Given the description of an element on the screen output the (x, y) to click on. 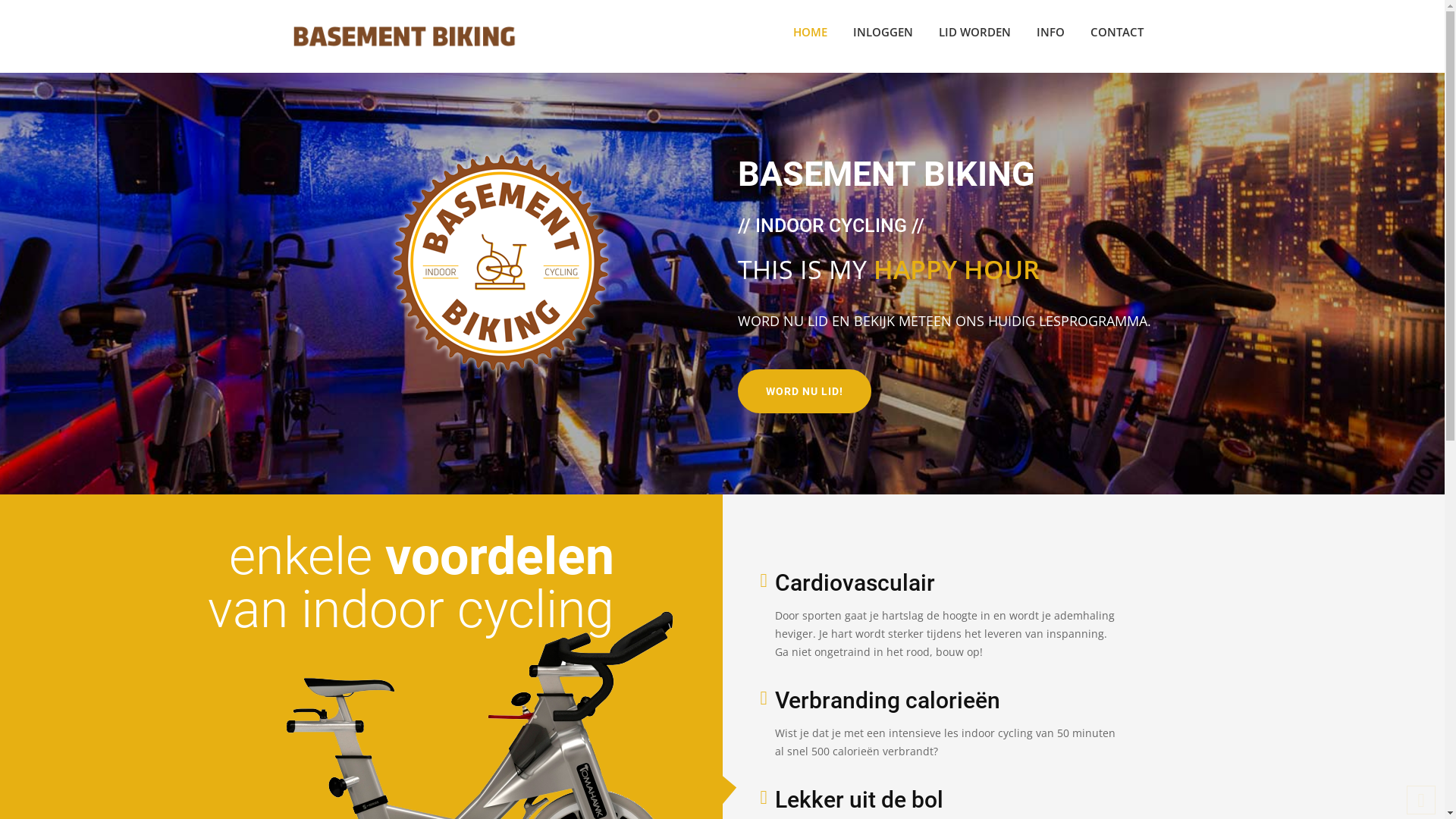
Lekker uit de bol Element type: text (859, 799)
CONTACT Element type: text (1116, 31)
HOME Element type: text (809, 31)
Basement Biking Genk - sport centrum Element type: hover (499, 262)
LID WORDEN Element type: text (973, 31)
INFO Element type: text (1050, 31)
INLOGGEN Element type: text (882, 31)
WORD NU LID! Element type: text (803, 391)
Cardiovasculair Element type: text (855, 582)
